Given the description of an element on the screen output the (x, y) to click on. 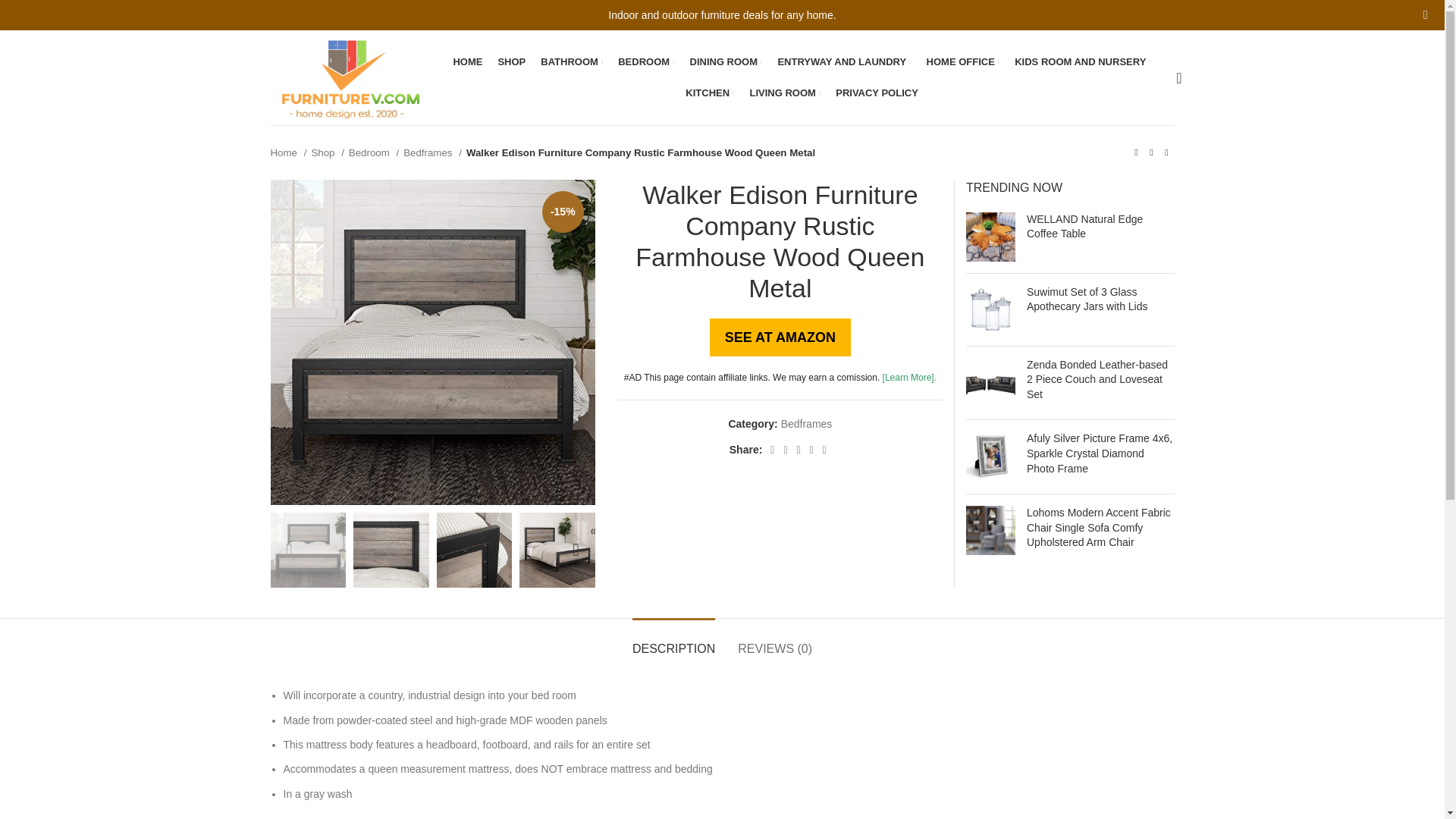
DINING ROOM (726, 61)
SHOP (511, 61)
Zenda Bonded Leather-based 2 Piece Couch and Loveseat Set (990, 382)
BATHROOM (571, 61)
41TB6zYryyL (1096, 196)
ENTRYWAY AND LAUNDRY (844, 61)
WELLAND Natural Edge Coffee Table (990, 236)
Shop (327, 152)
PRIVACY POLICY (876, 92)
